Given the description of an element on the screen output the (x, y) to click on. 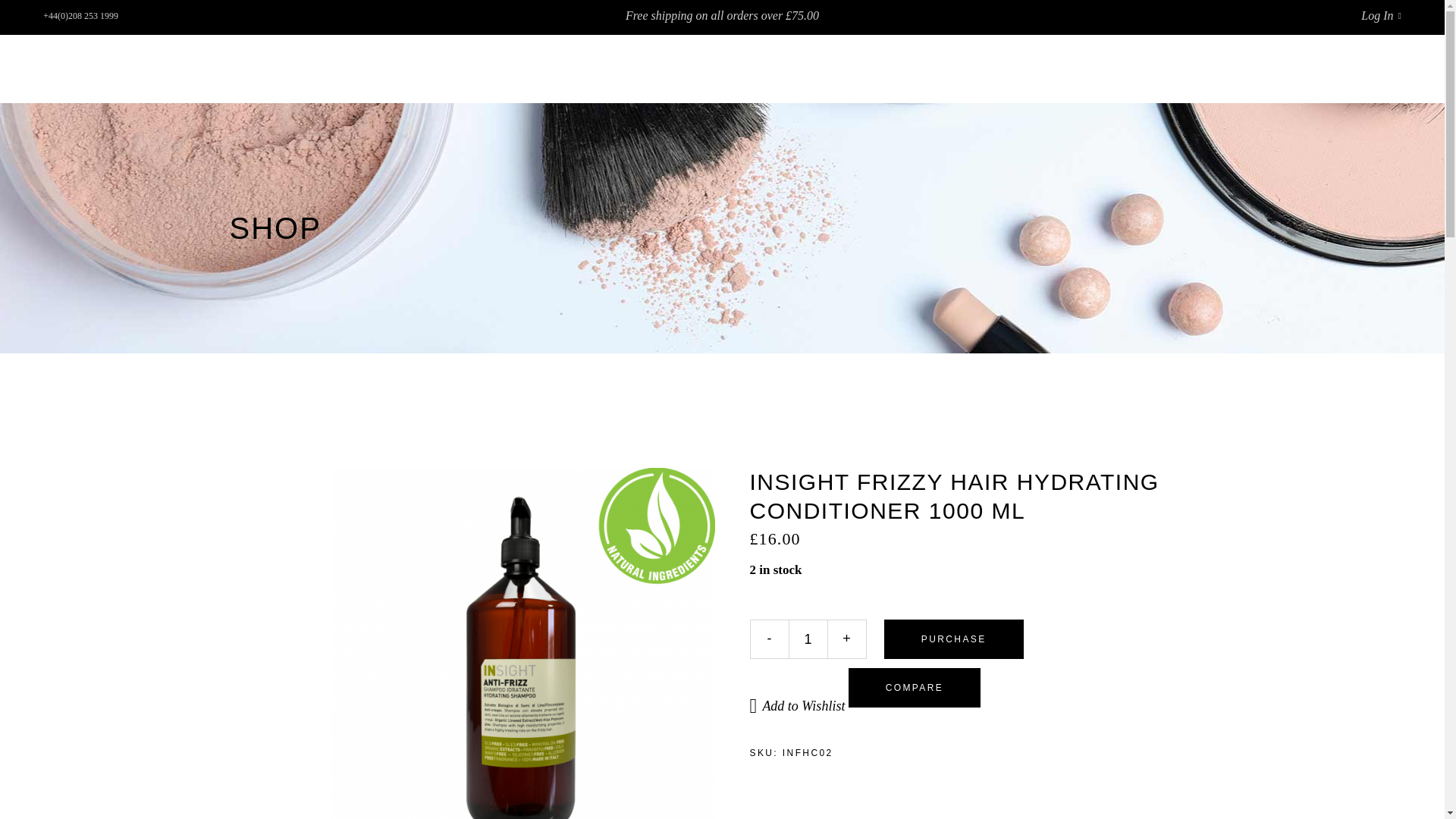
Log In (1380, 15)
1 (808, 639)
